Given the description of an element on the screen output the (x, y) to click on. 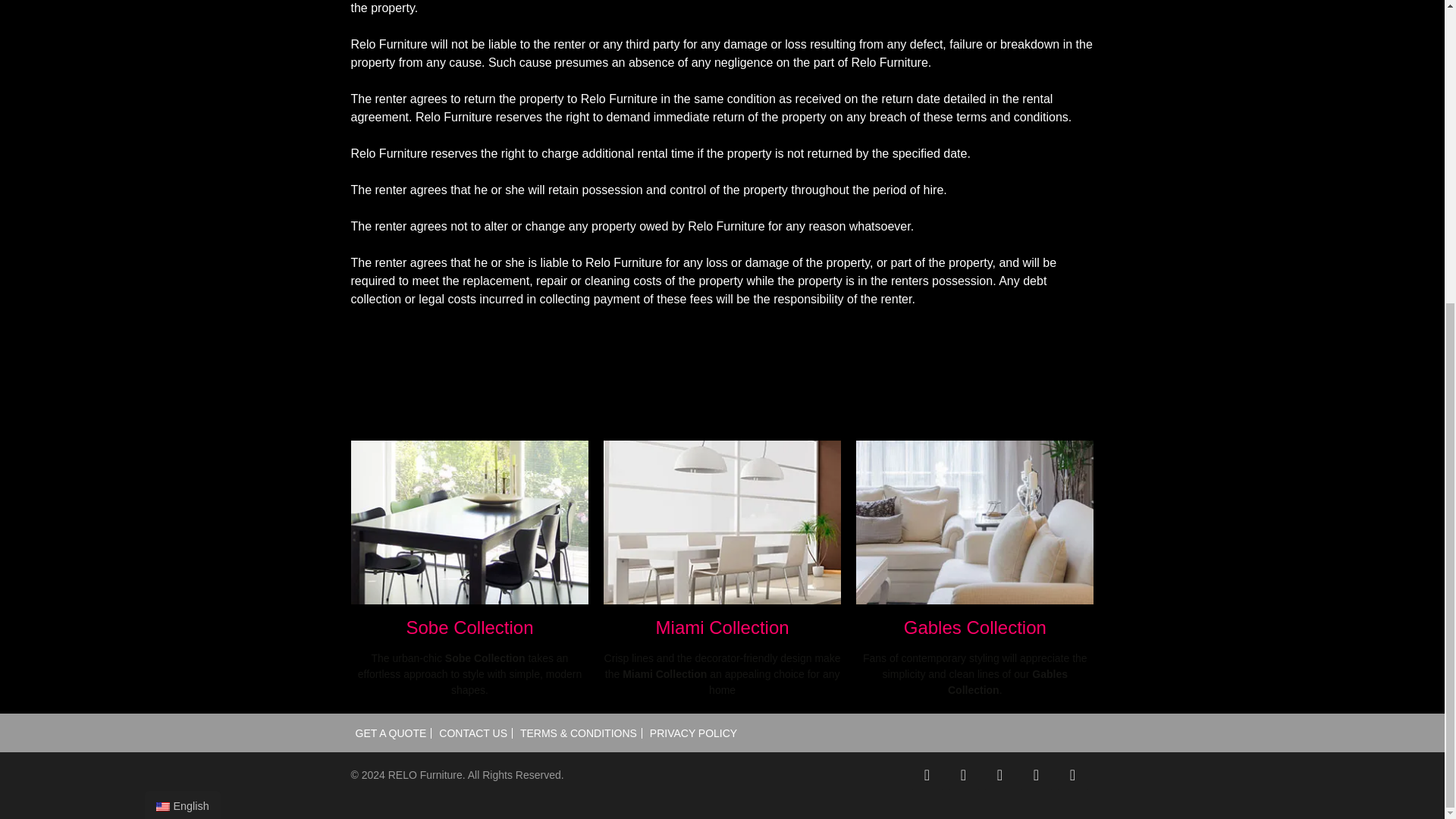
English (162, 333)
Miami Collection (722, 552)
Sobe Collection (469, 552)
GET A QUOTE (390, 733)
English (181, 331)
Instagram (1035, 775)
Gables Collection (974, 552)
PRIVACY POLICY (692, 733)
Twitter (962, 775)
LinkedIn (1072, 775)
Facebook (926, 775)
CONTACT US (472, 733)
